Given the description of an element on the screen output the (x, y) to click on. 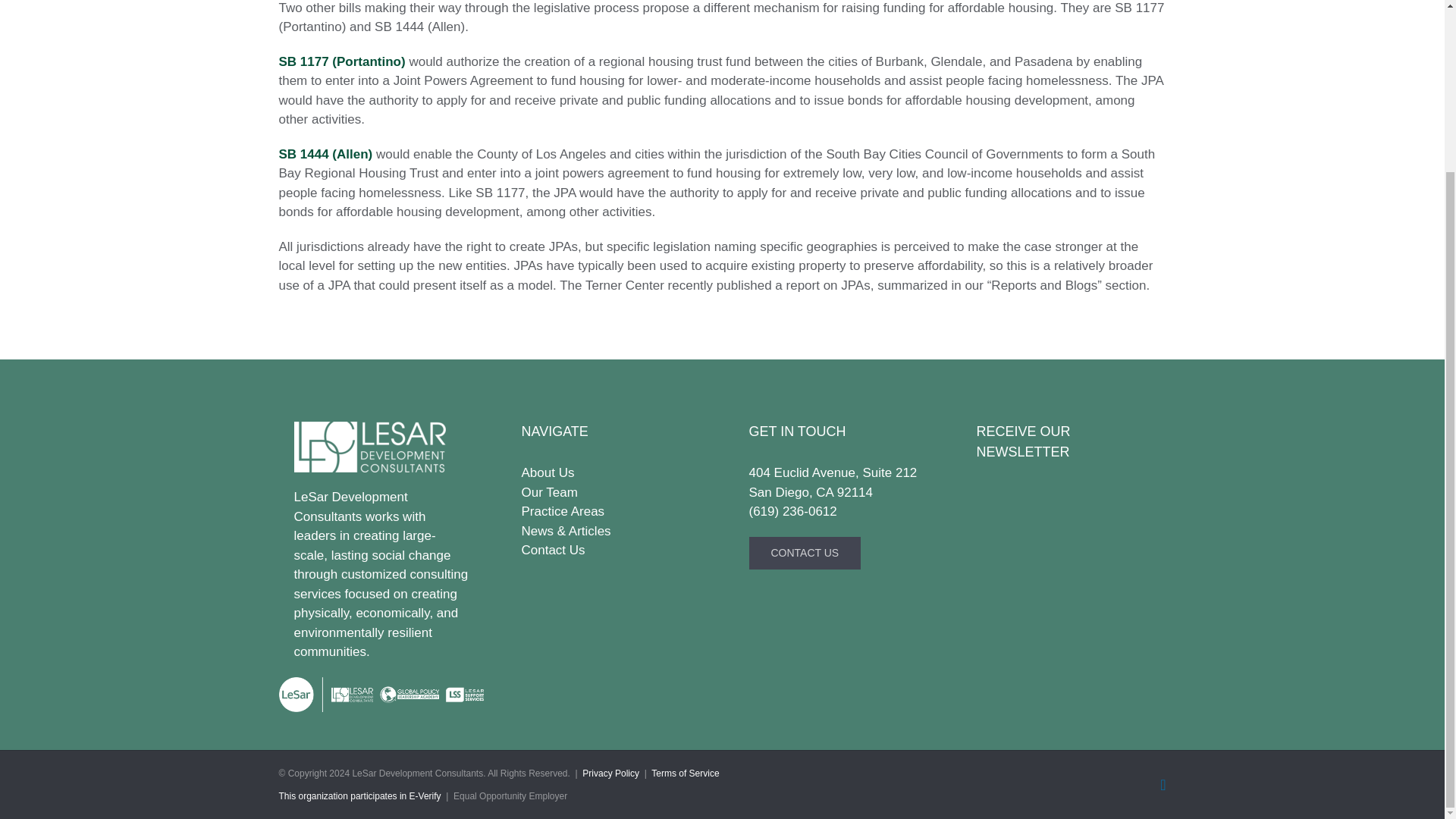
Privacy Policy (610, 773)
Contact Us (608, 550)
CONTACT US (805, 553)
Practice Areas (608, 511)
Our Team (608, 492)
Terms of Service (684, 773)
This organization participates in E-Verify (360, 796)
About Us (608, 473)
